Given the description of an element on the screen output the (x, y) to click on. 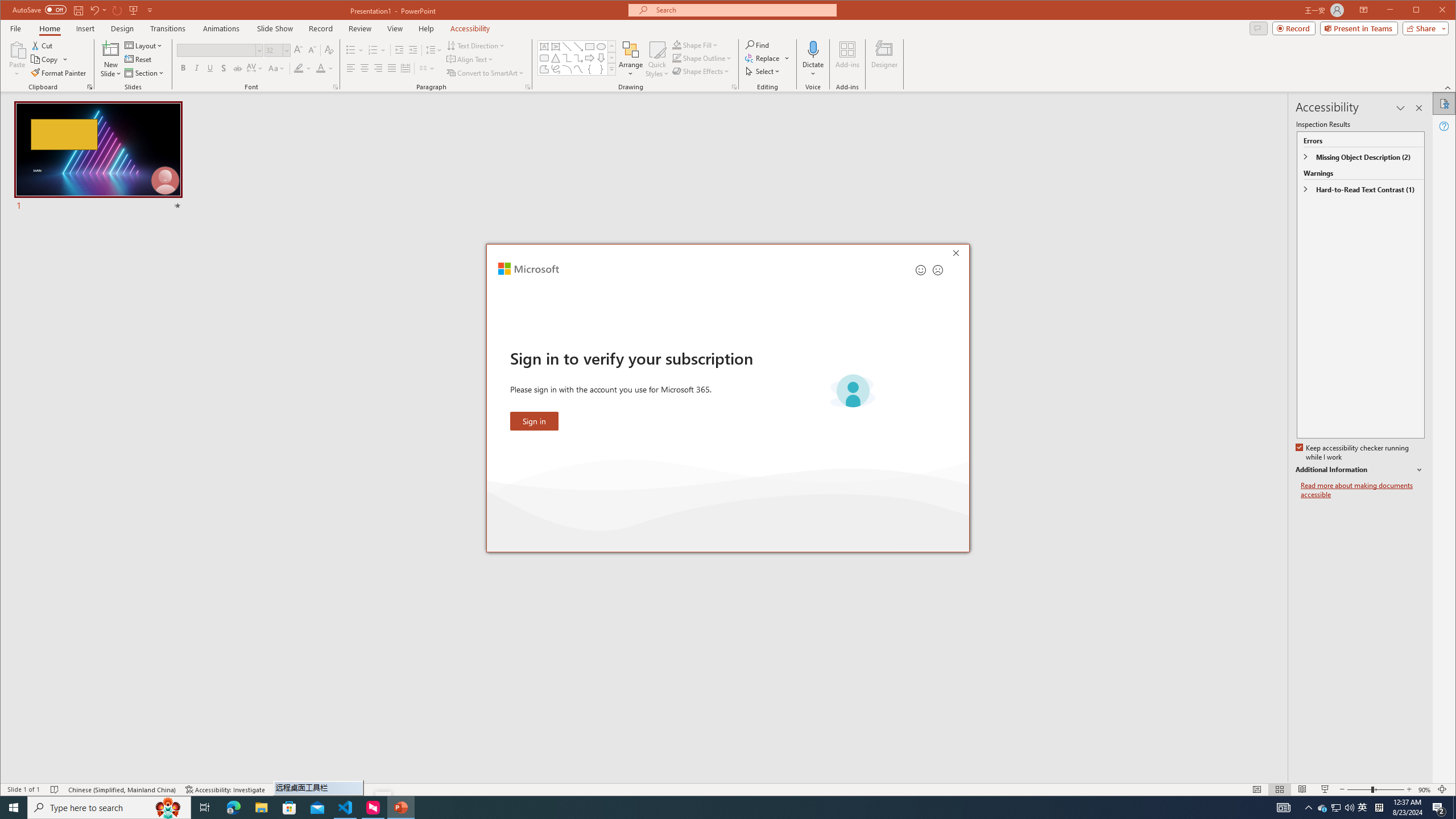
Send a frown for feedback (937, 269)
